Given the description of an element on the screen output the (x, y) to click on. 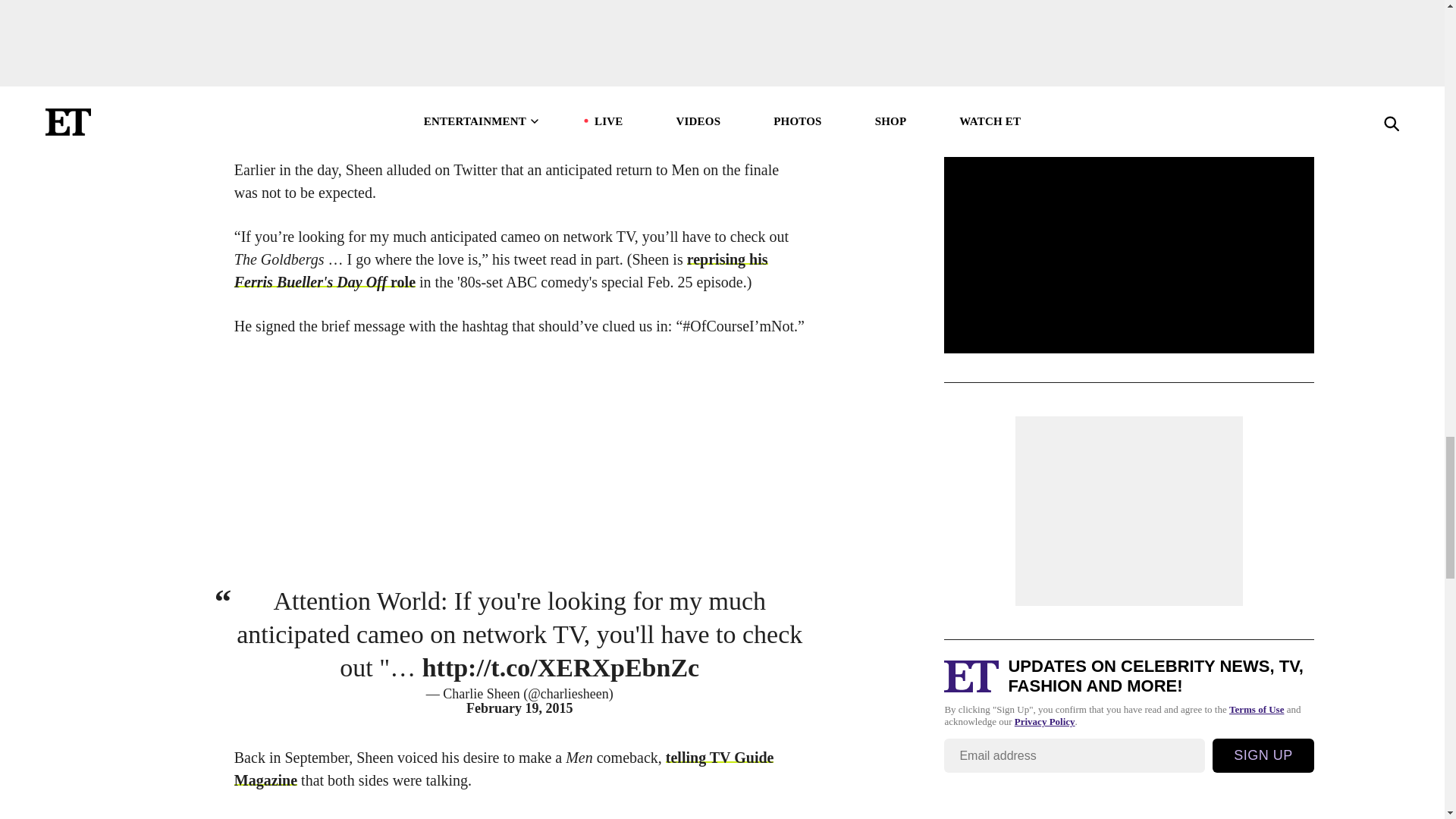
February 19, 2015 (518, 708)
reprising his Ferris Bueller's Day Off role (501, 270)
telling TV Guide Magazine (504, 768)
